Given the description of an element on the screen output the (x, y) to click on. 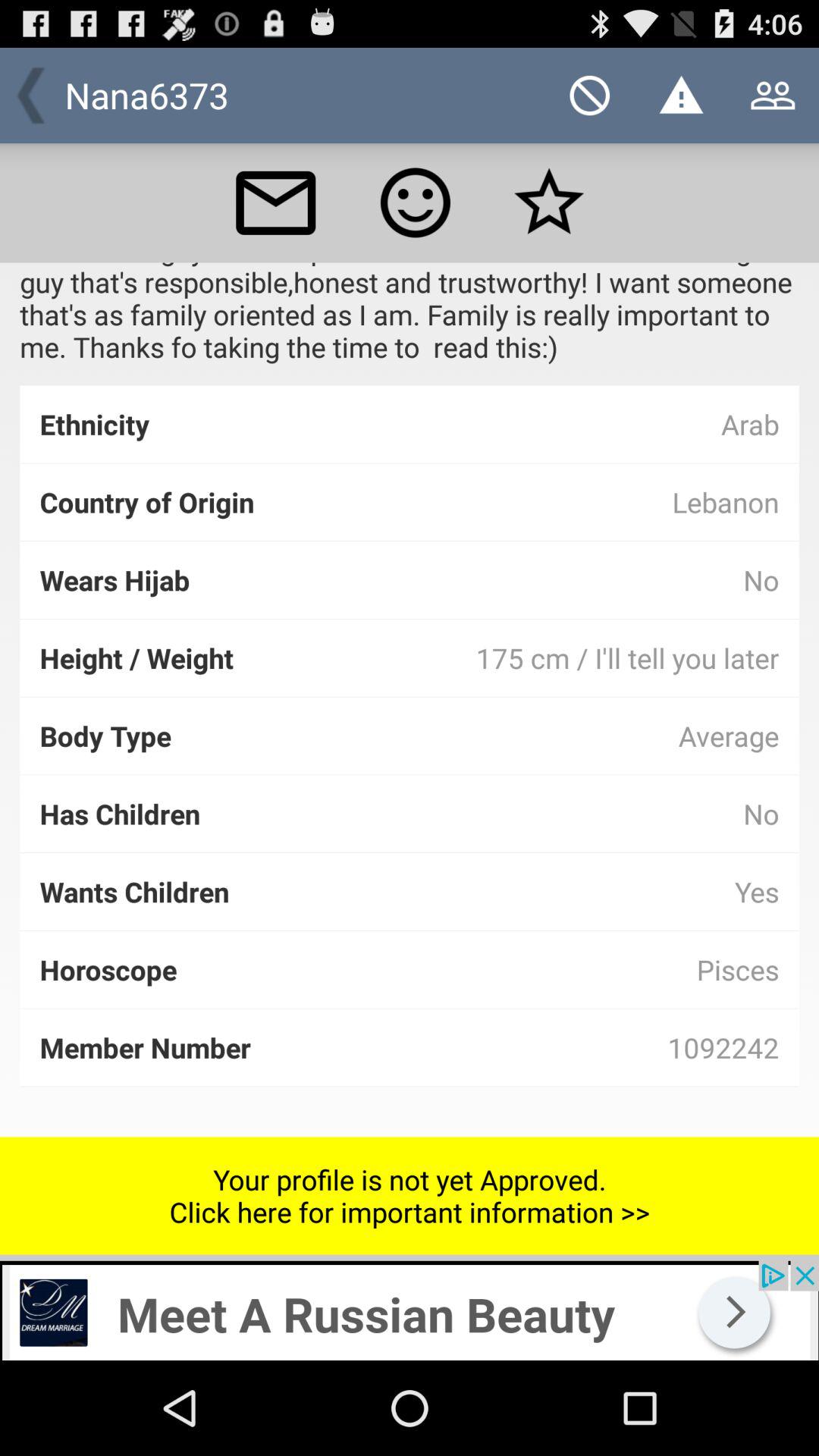
view inbox or messages (275, 202)
